Given the description of an element on the screen output the (x, y) to click on. 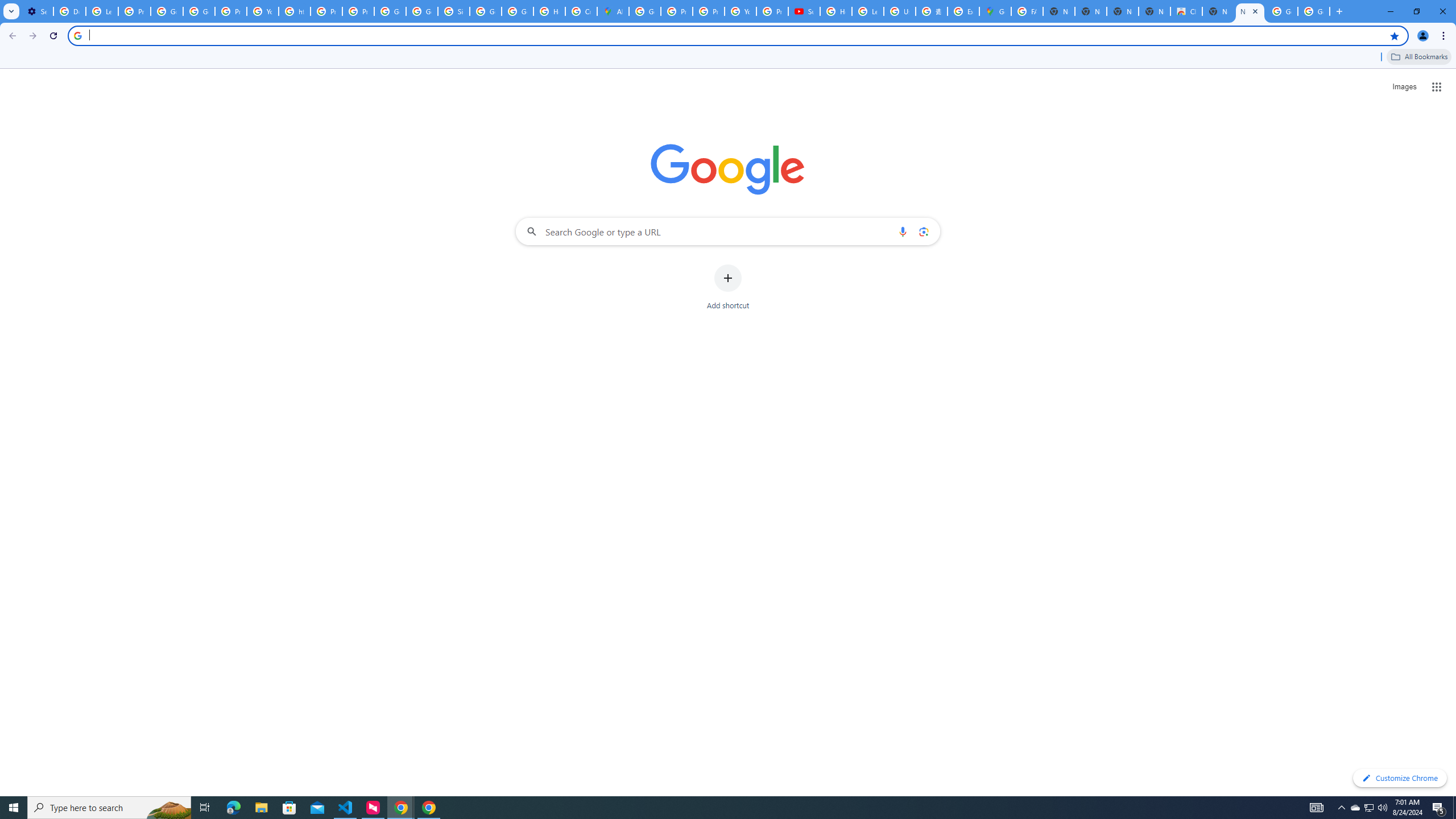
Delete photos & videos - Computer - Google Photos Help (69, 11)
Explore new street-level details - Google Maps Help (963, 11)
Google Account Help (166, 11)
Google Maps (995, 11)
Subscriptions - YouTube (804, 11)
